Given the description of an element on the screen output the (x, y) to click on. 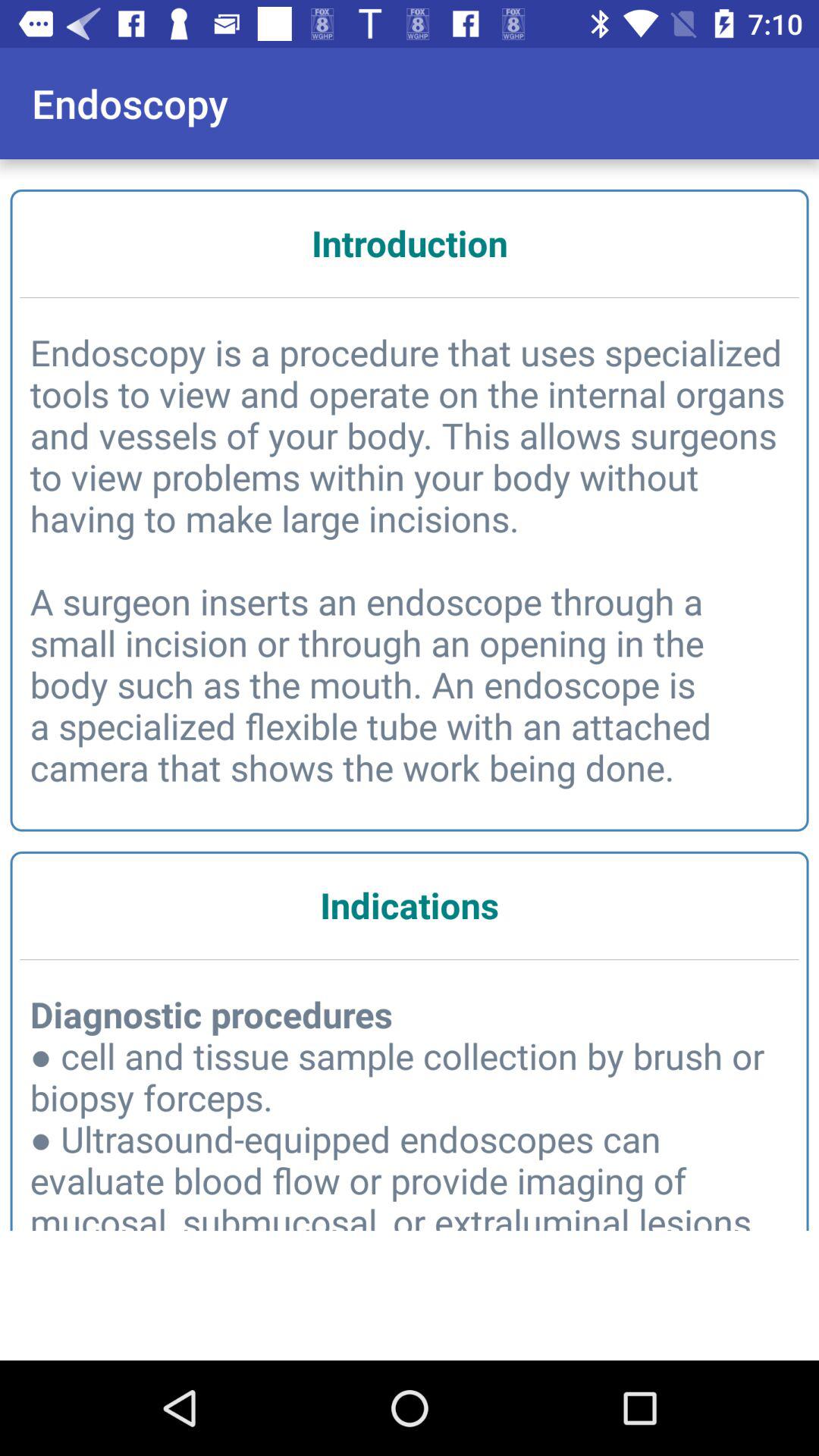
scroll until the introduction item (409, 242)
